Given the description of an element on the screen output the (x, y) to click on. 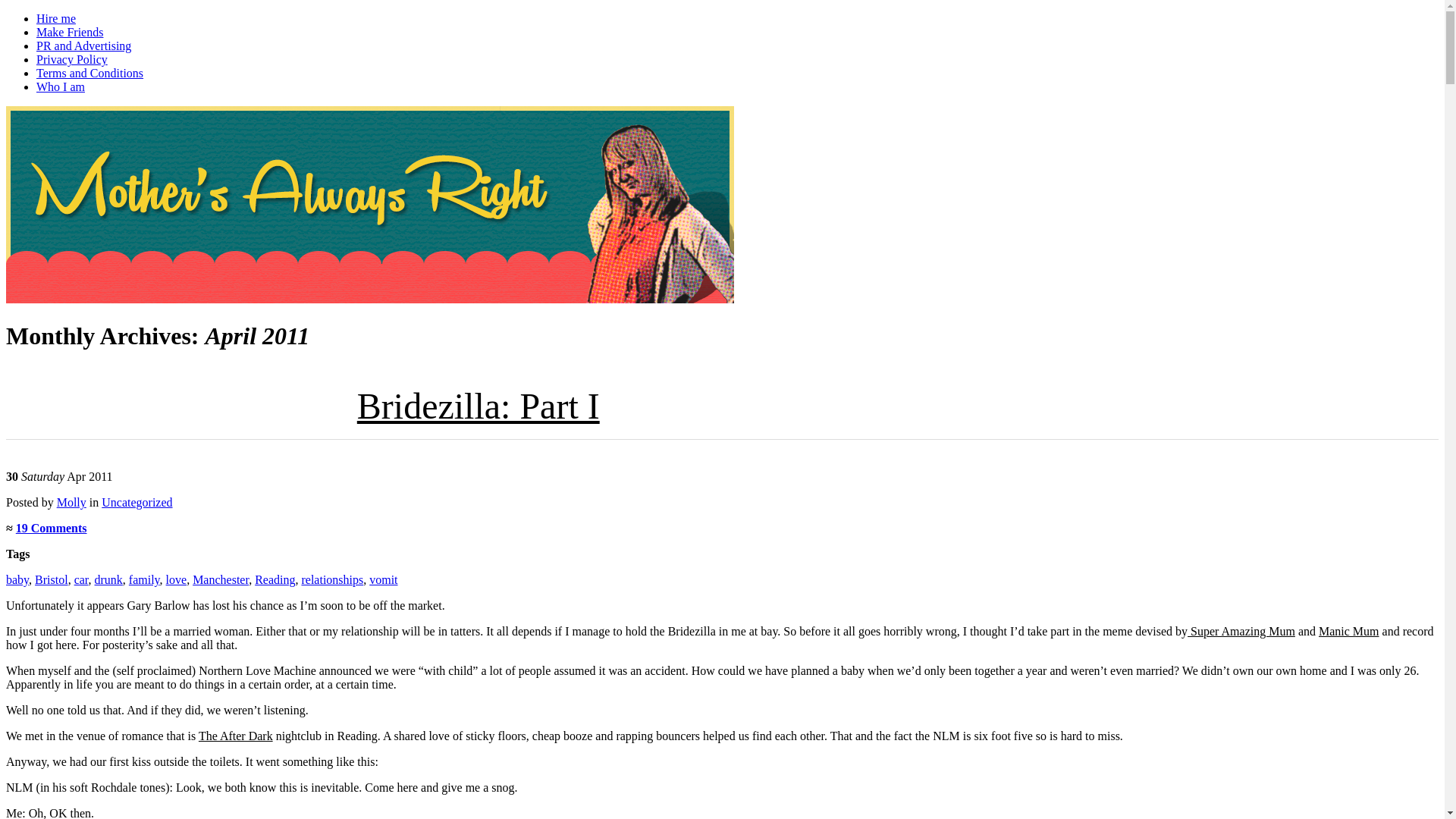
drunk (108, 579)
Privacy Policy (71, 59)
Molly (70, 502)
relationships (331, 579)
baby (17, 579)
PR and Advertising (83, 45)
19 Comments (51, 527)
Terms and Conditions (89, 72)
Mother's Always Right (124, 135)
Bristol (51, 579)
Comment on Bridezilla: Part I (51, 527)
car (81, 579)
Manic Mum (1348, 631)
Manchester (220, 579)
The After Dark (235, 735)
